Given the description of an element on the screen output the (x, y) to click on. 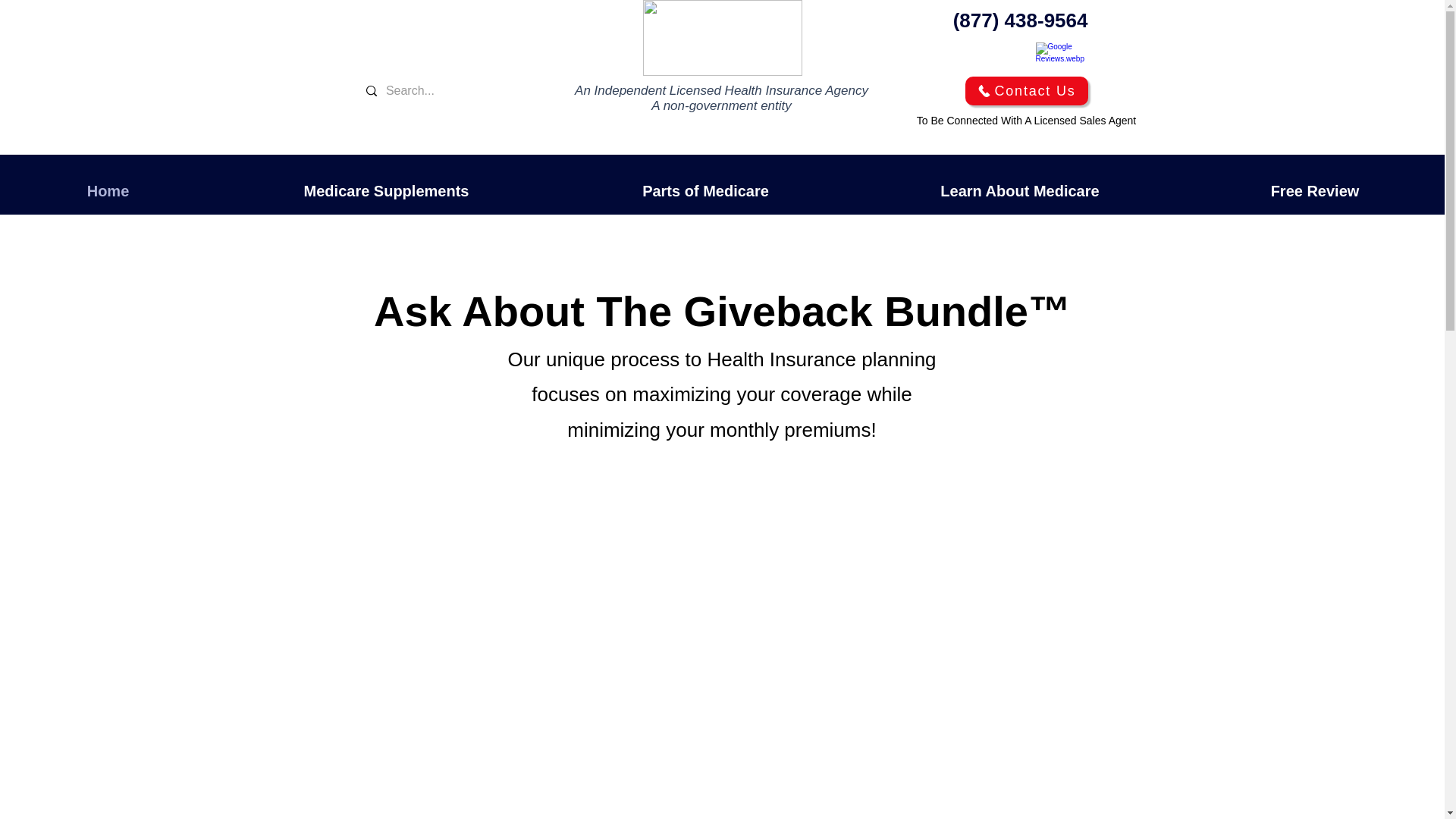
Contact Us (1025, 90)
Home (107, 190)
Medicare Supplements (385, 190)
Your Medical Help.png (722, 38)
